Given the description of an element on the screen output the (x, y) to click on. 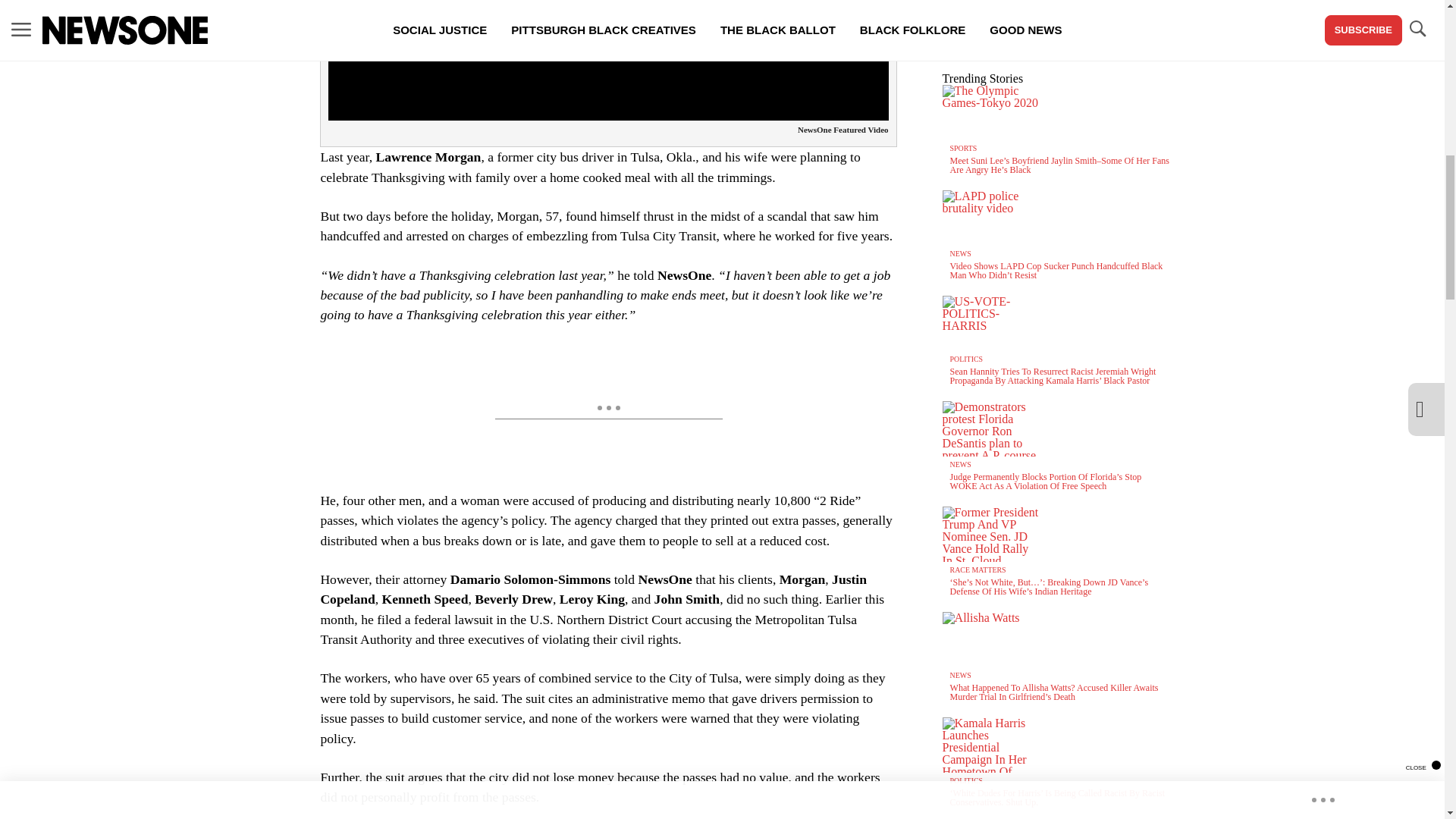
Page 1 (608, 737)
